Given the description of an element on the screen output the (x, y) to click on. 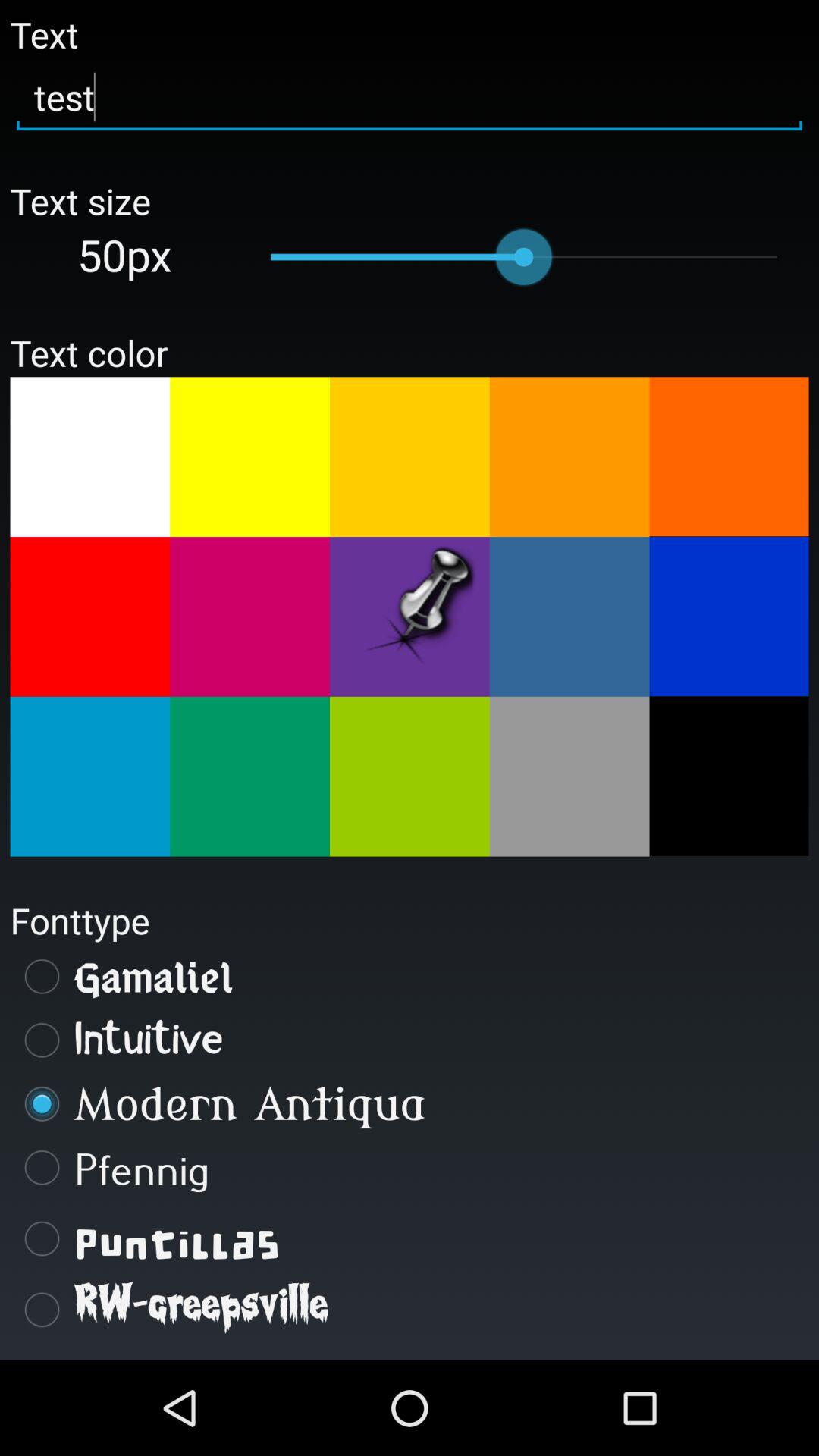
switch blue color (90, 776)
